Given the description of an element on the screen output the (x, y) to click on. 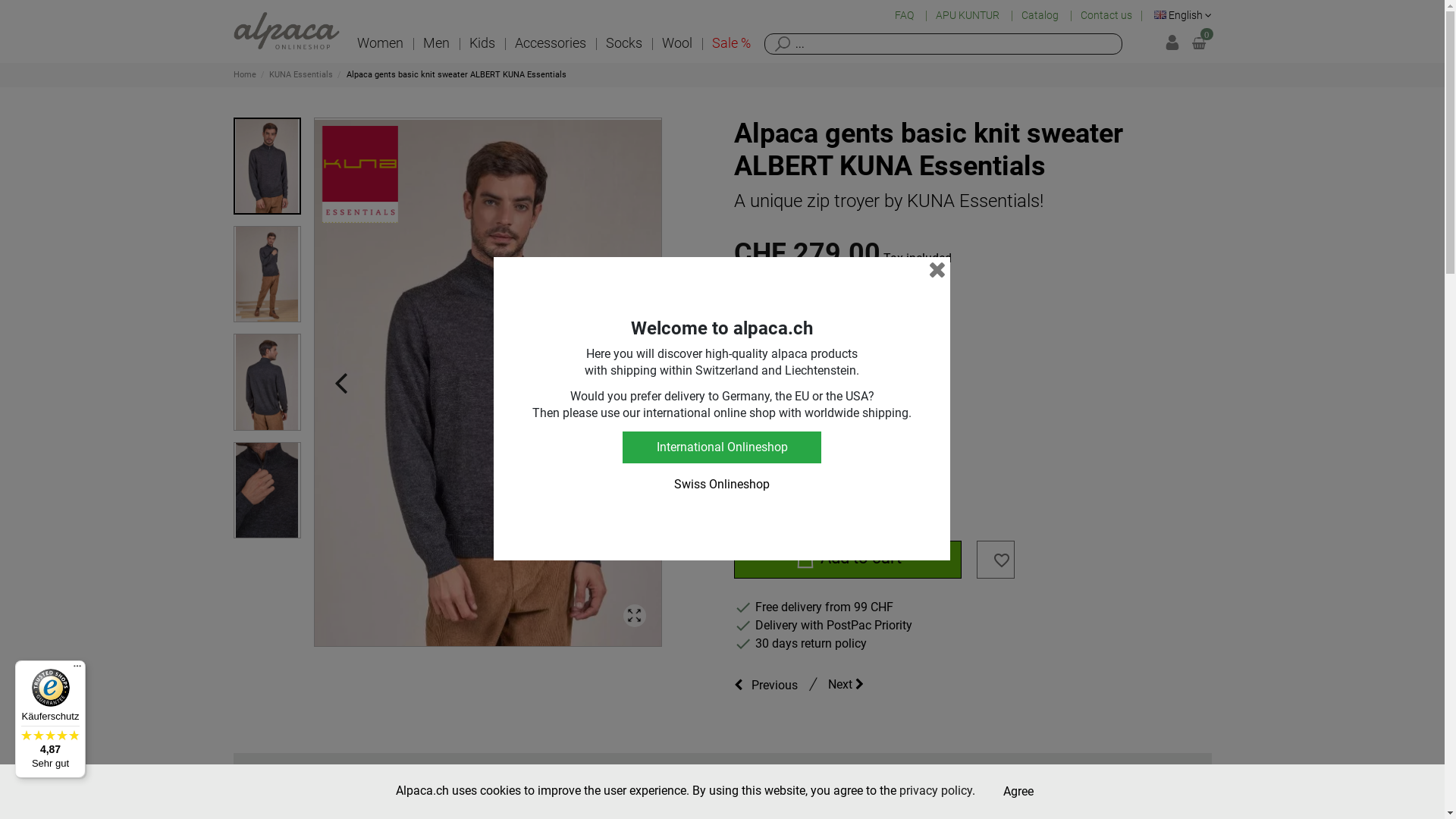
0 Element type: text (1198, 42)
KUNA Essentials Element type: text (302, 74)
favorite_border Element type: text (1000, 563)
Close Element type: hover (937, 269)
Accessories Element type: text (550, 43)
Alpaka Herren Strick Pullover ALBERT KUNA Essentials Element type: hover (486, 382)
Home Element type: text (245, 74)
Contact us Element type: text (1106, 15)
Swiss Onlineshop Element type: text (721, 484)
Women Element type: text (380, 43)
English Element type: text (1182, 15)
Wool Element type: text (677, 43)
Next Element type: text (852, 684)
FAQ Element type: text (905, 15)
Socks Element type: text (624, 43)
Previous Element type: text (769, 684)
Kids Element type: text (482, 43)
International Onlineshop Element type: text (721, 447)
APU KUNTUR Element type: text (968, 15)
Men Element type: text (435, 43)
Catalog Element type: text (1040, 15)
privacy policy Element type: text (935, 790)
Add to cart Element type: text (847, 559)
Agree Element type: text (1018, 791)
Sale % Element type: text (731, 43)
Log in to your customer account Element type: hover (1171, 43)
